Given the description of an element on the screen output the (x, y) to click on. 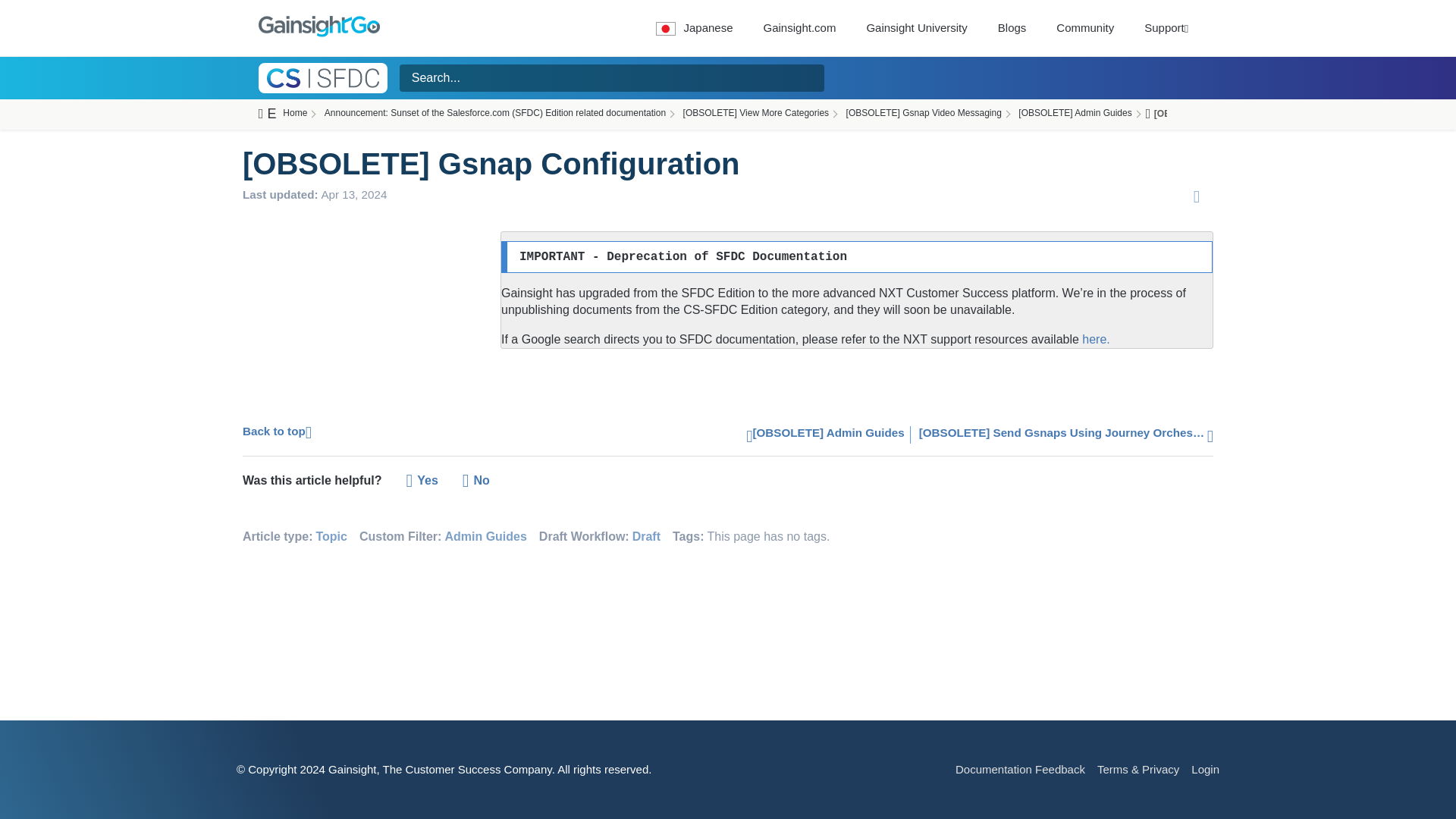
Japanese (693, 27)
Gainsight University (916, 27)
Home (293, 113)
Support (1165, 27)
Community (1084, 27)
Blogs (1011, 27)
Jump back to top of this article (277, 429)
Gainsight.com (799, 27)
